Given the description of an element on the screen output the (x, y) to click on. 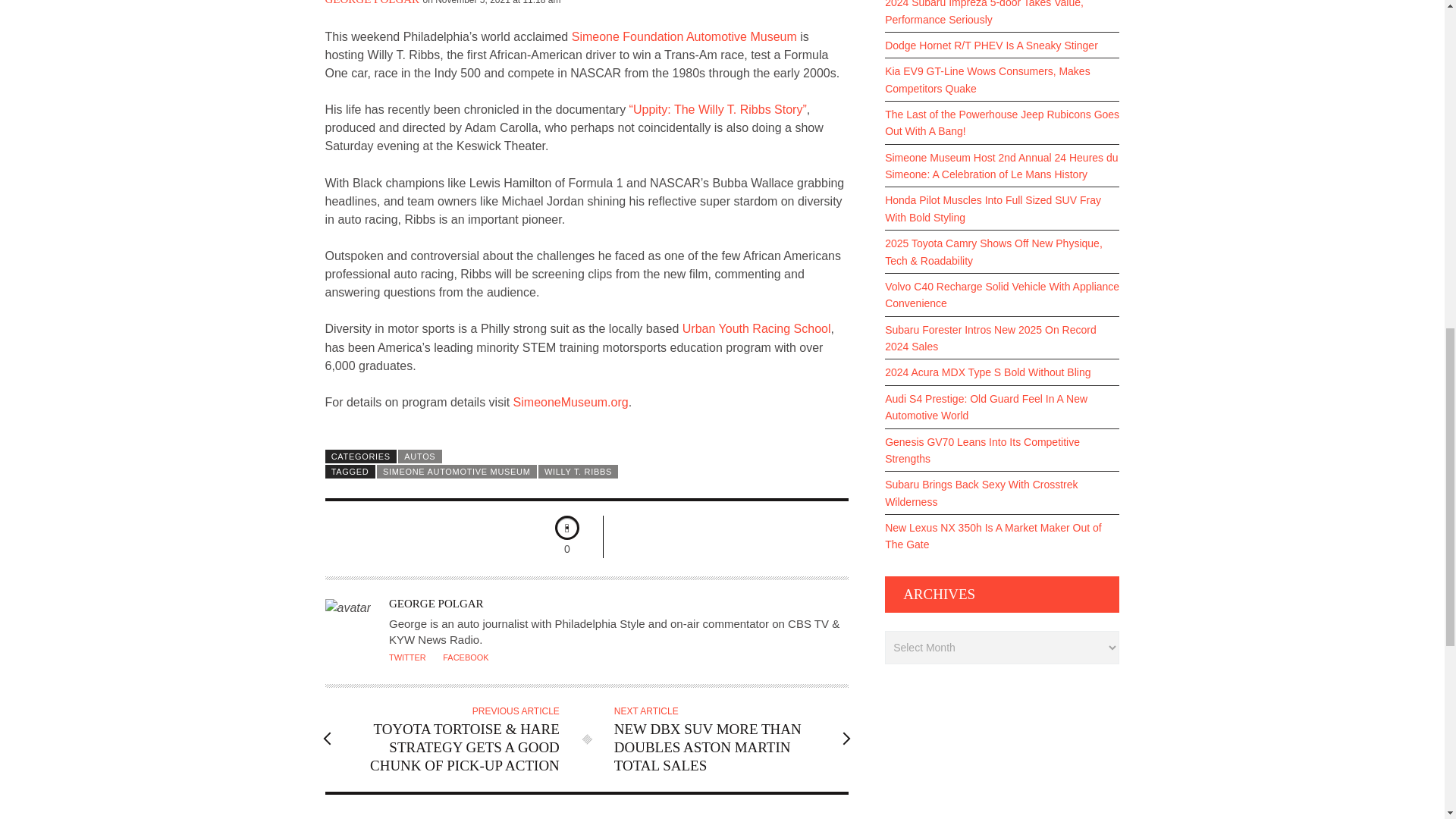
Posts by George Polgar (371, 2)
Posts by George Polgar (435, 603)
View all posts tagged Willy T. Ribbs (577, 471)
View all posts tagged Simeone Automotive Museum (457, 471)
View all posts in autos (419, 456)
